Given the description of an element on the screen output the (x, y) to click on. 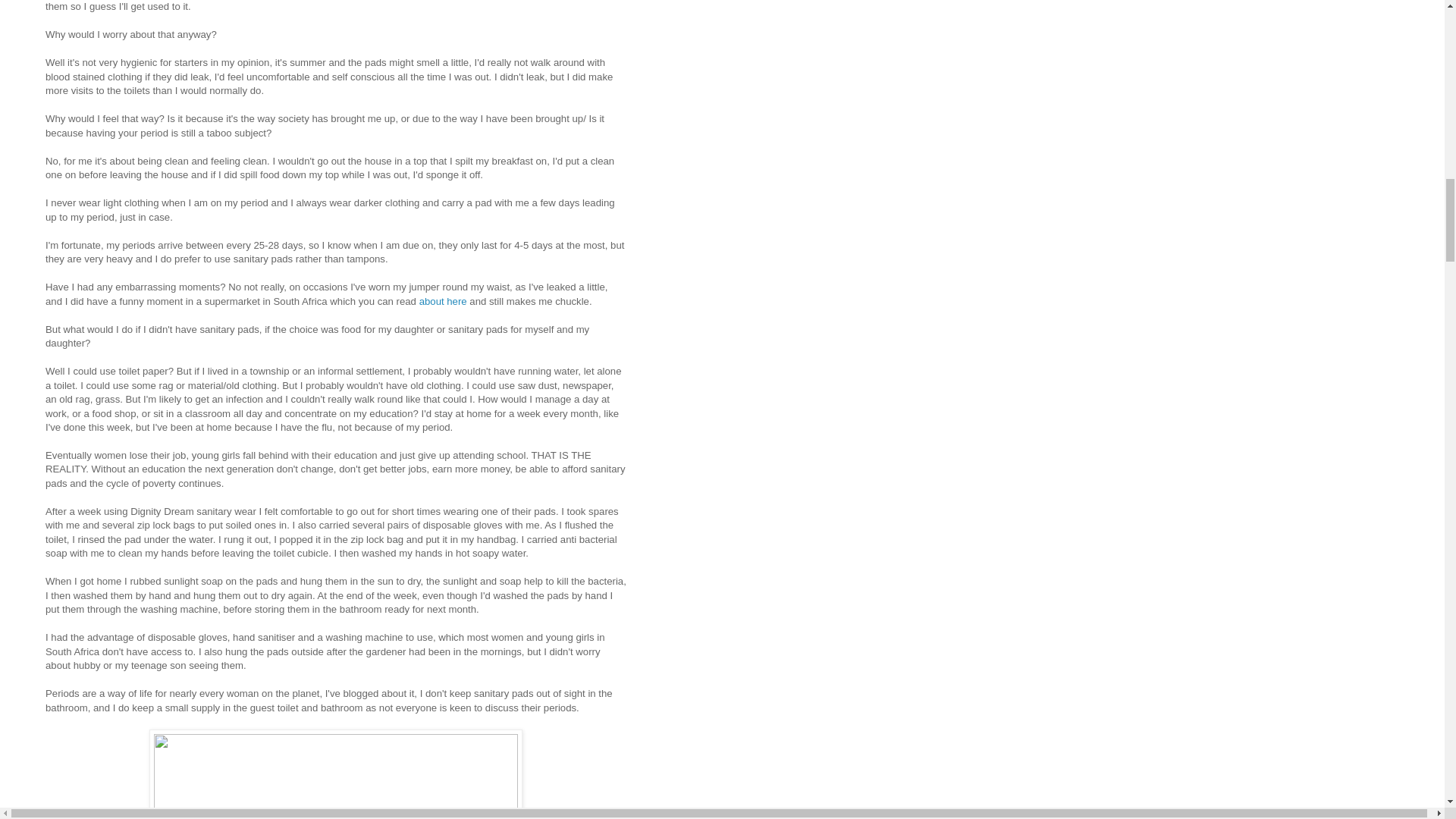
about here (443, 301)
